Given the description of an element on the screen output the (x, y) to click on. 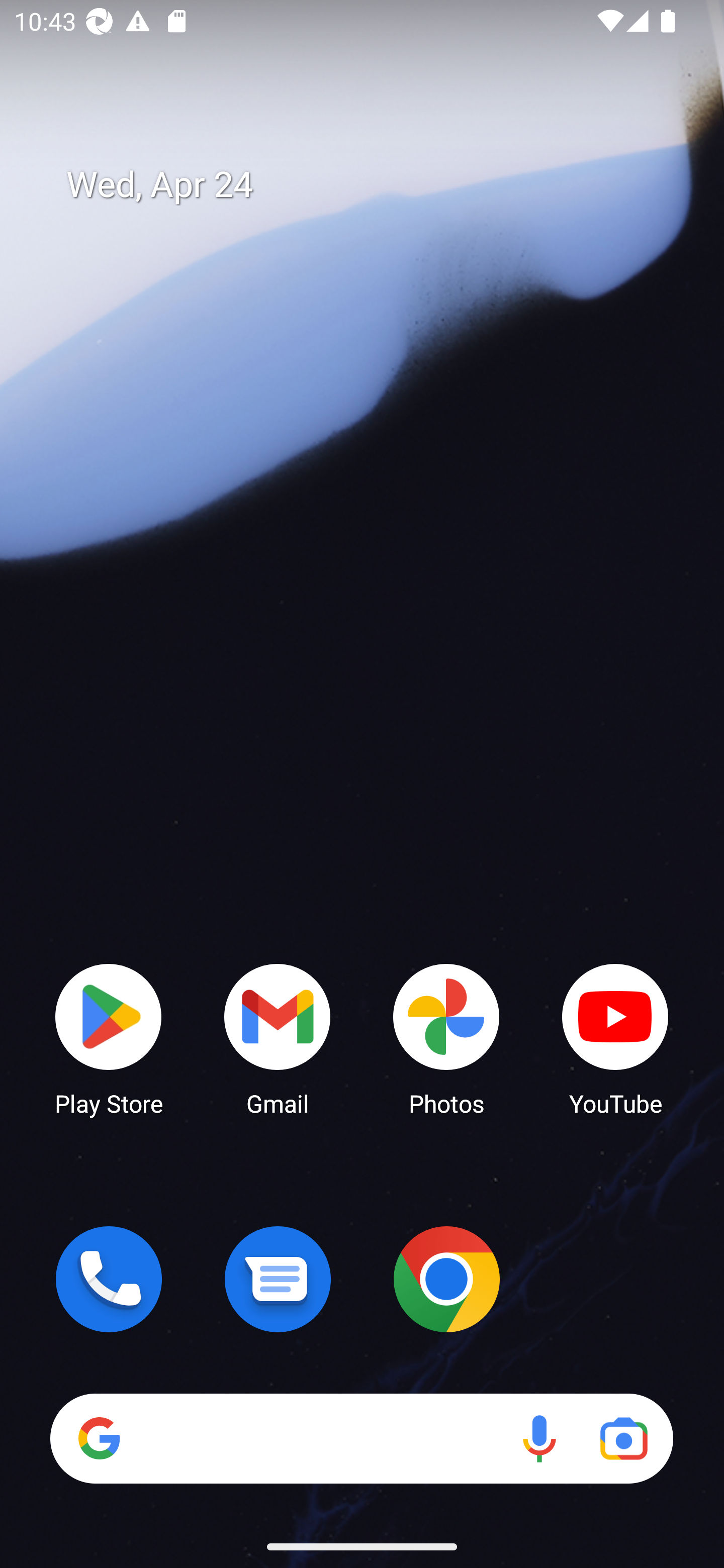
Wed, Apr 24 (375, 184)
Play Store (108, 1038)
Gmail (277, 1038)
Photos (445, 1038)
YouTube (615, 1038)
Phone (108, 1279)
Messages (277, 1279)
Chrome (446, 1279)
Search Voice search Google Lens (361, 1438)
Voice search (539, 1438)
Google Lens (623, 1438)
